Given the description of an element on the screen output the (x, y) to click on. 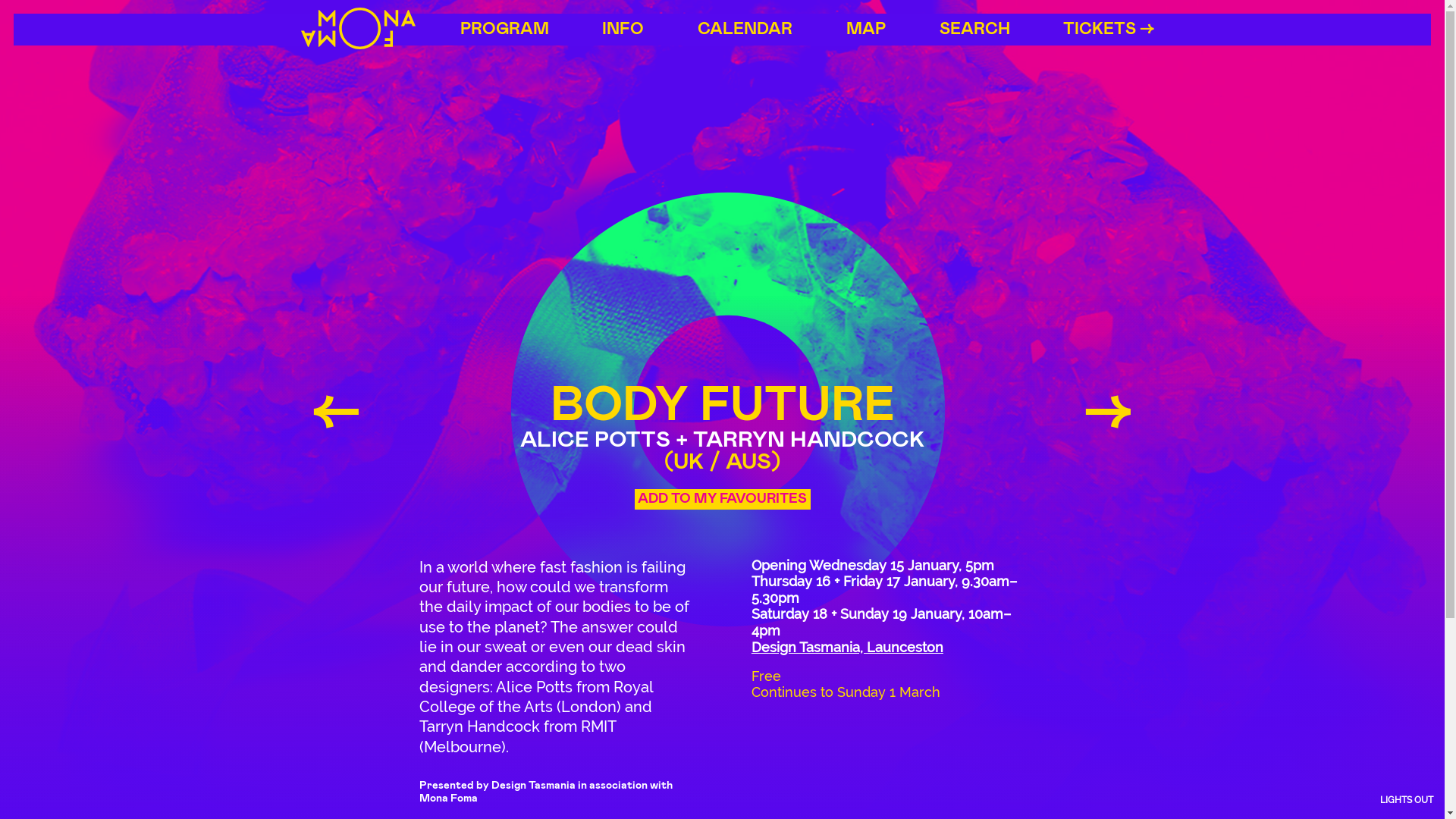
CALENDAR Element type: text (745, 29)
ADD TO MY FAVOURITES Element type: text (721, 499)
PROGRAM Element type: text (503, 29)
Design Tasmania, Launceston Element type: text (847, 654)
INFO Element type: text (623, 29)
TICKETS Element type: text (1108, 29)
MAP Element type: text (865, 29)
SEARCH Element type: text (974, 29)
